Given the description of an element on the screen output the (x, y) to click on. 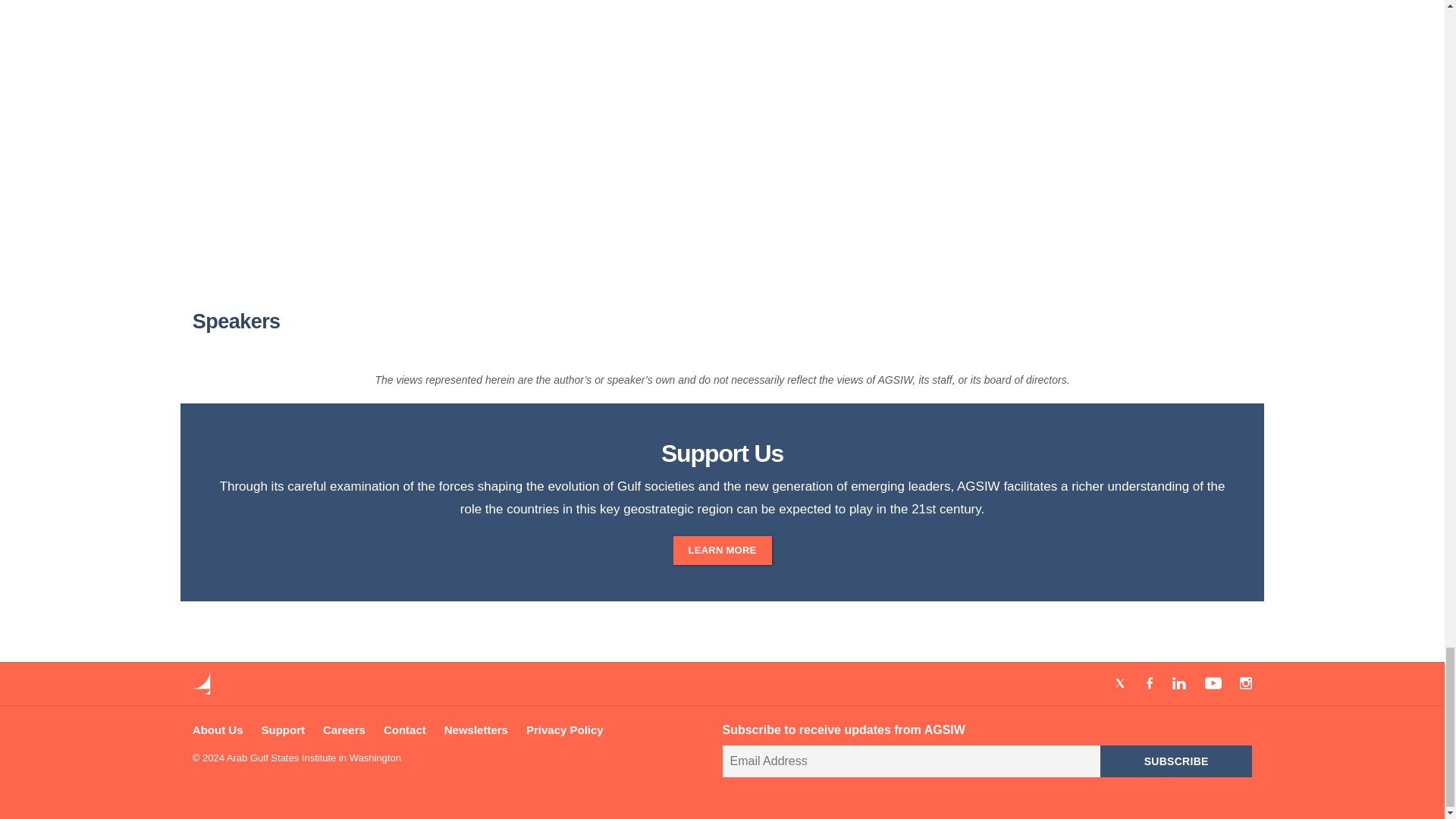
The Arab Gulf States Institute in Washington (201, 689)
LEARN MORE (721, 550)
Subscribe (1176, 761)
